Given the description of an element on the screen output the (x, y) to click on. 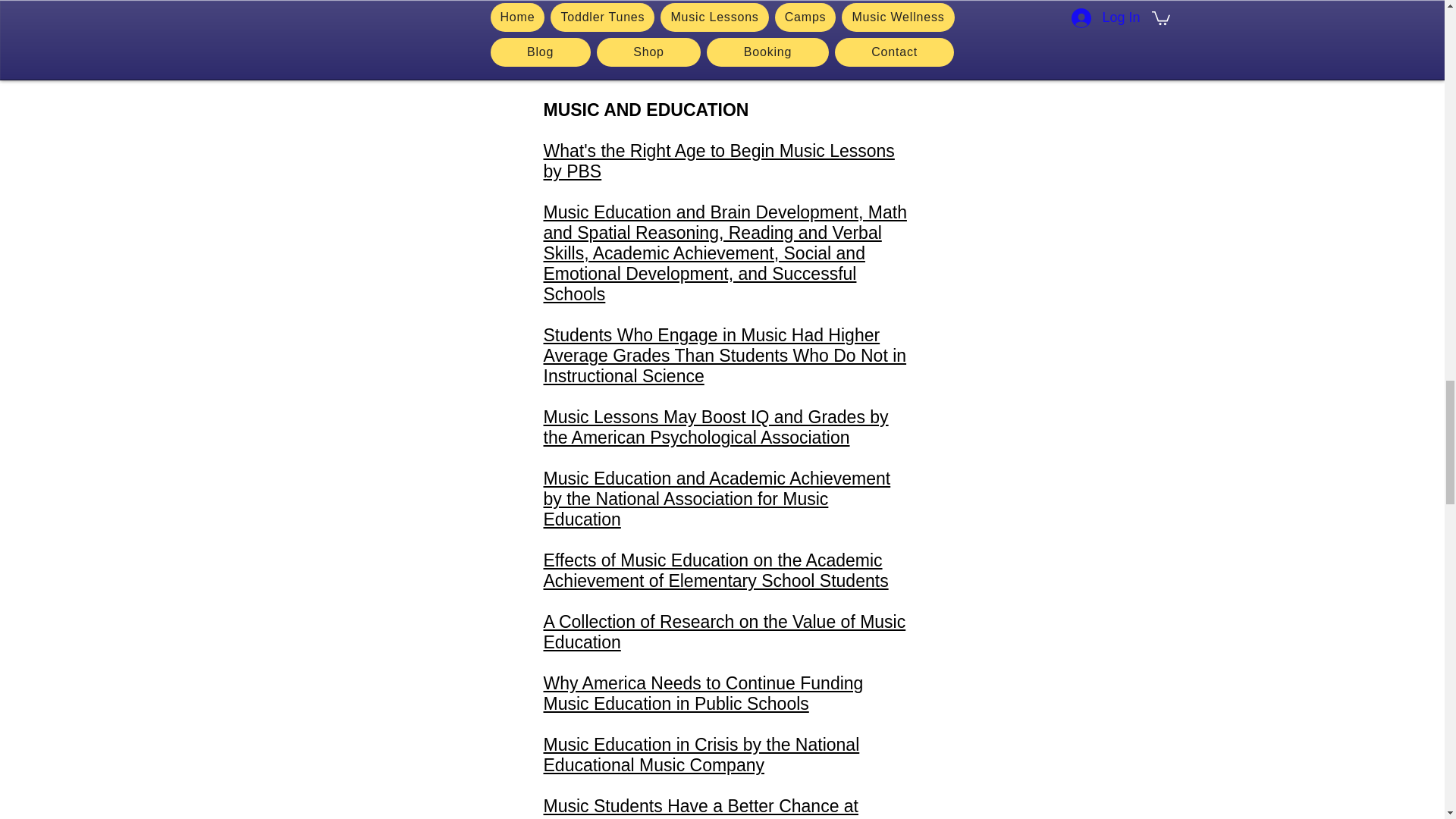
What's the Right Age to Begin Music Lessons by PBS (718, 160)
A Collection of Research on the Value of Music Education (724, 631)
